Given the description of an element on the screen output the (x, y) to click on. 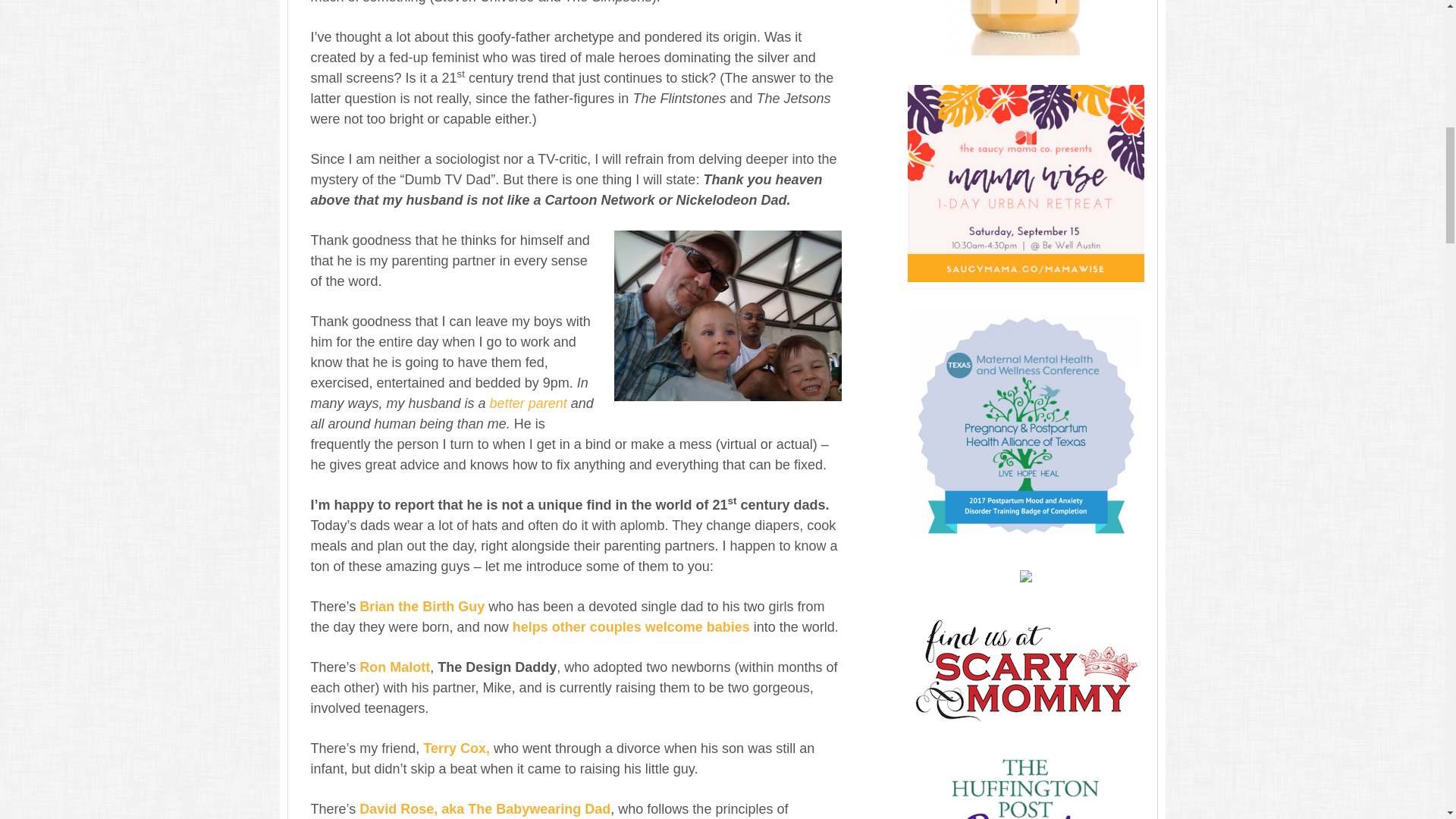
Birth Guy (421, 606)
Parenting as an Adoptive, Single Dad :: Wednesday Wisdom (456, 748)
Ron Malott (394, 667)
Babywearing Dad (484, 808)
Rocking Dads (630, 626)
Brian the Birth Guy (421, 606)
David Rose, aka The Babywearing Dad (484, 808)
better parent (528, 403)
helps other couples welcome babies (630, 626)
All Hands On Deck :: Tuesday Tip (528, 403)
Ron Malott (394, 667)
Terry Cox, (456, 748)
